Given the description of an element on the screen output the (x, y) to click on. 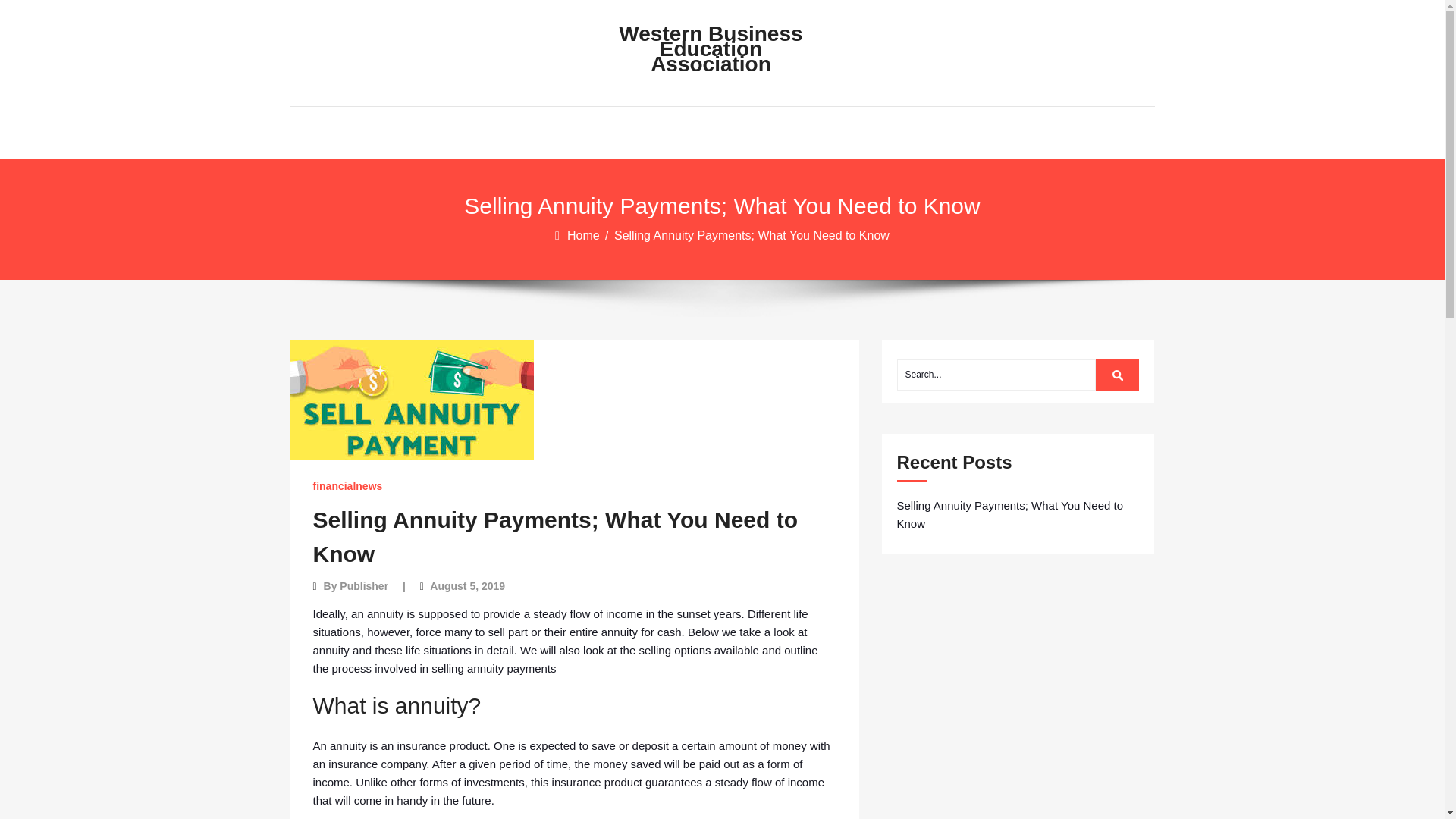
Publisher (363, 585)
Search (1118, 374)
Home (584, 235)
Selling Annuity Payments; What You Need to Know (555, 536)
August 5, 2019 (467, 585)
financialnews (347, 485)
Search (1118, 374)
Selling Annuity Payments; What You Need to Know (1017, 514)
Western Business Education Association (710, 49)
